Given the description of an element on the screen output the (x, y) to click on. 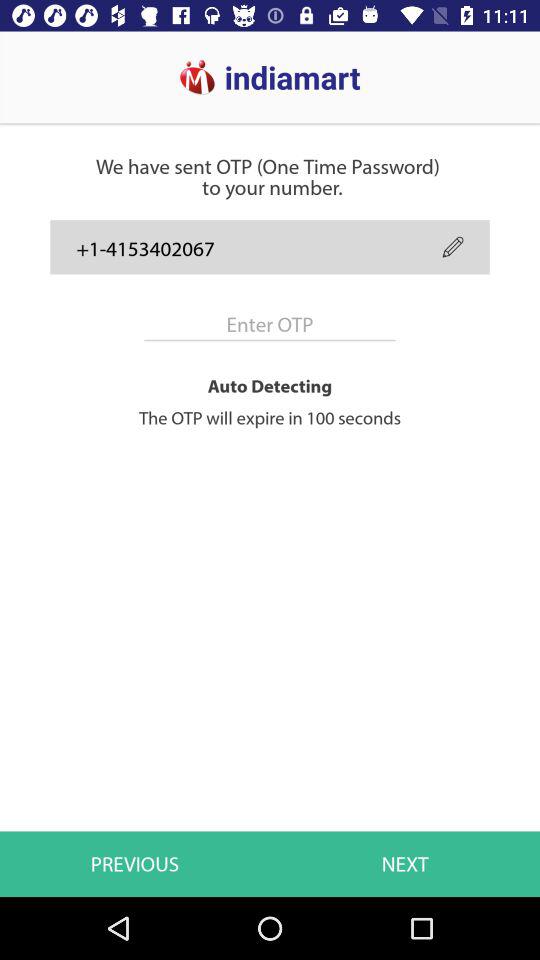
launch item to the right of +1-4153402067 item (452, 246)
